Given the description of an element on the screen output the (x, y) to click on. 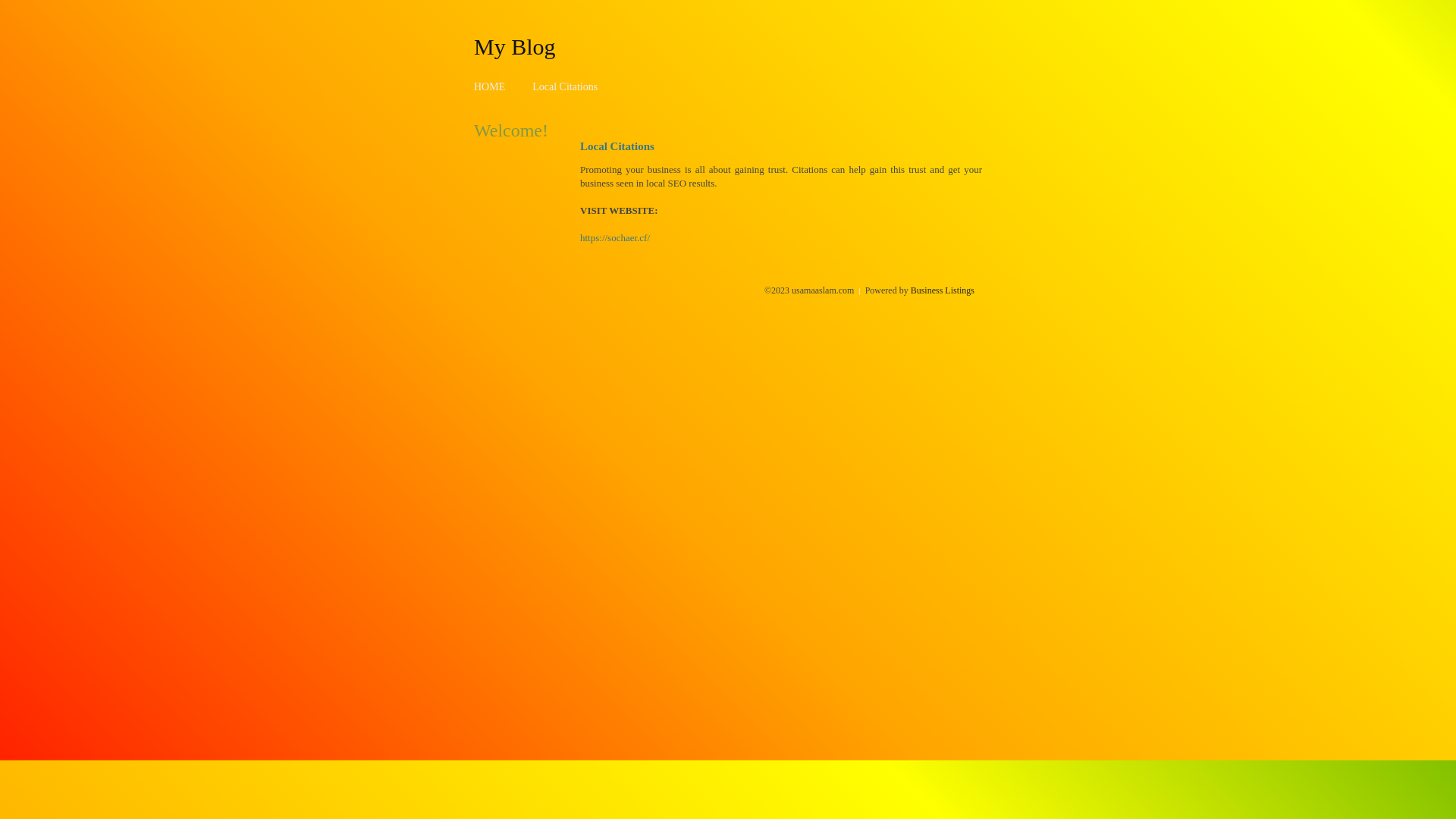
Local Citations Element type: text (564, 86)
Business Listings Element type: text (942, 290)
My Blog Element type: text (514, 46)
HOME Element type: text (489, 86)
https://sochaer.cf/ Element type: text (614, 237)
